Given the description of an element on the screen output the (x, y) to click on. 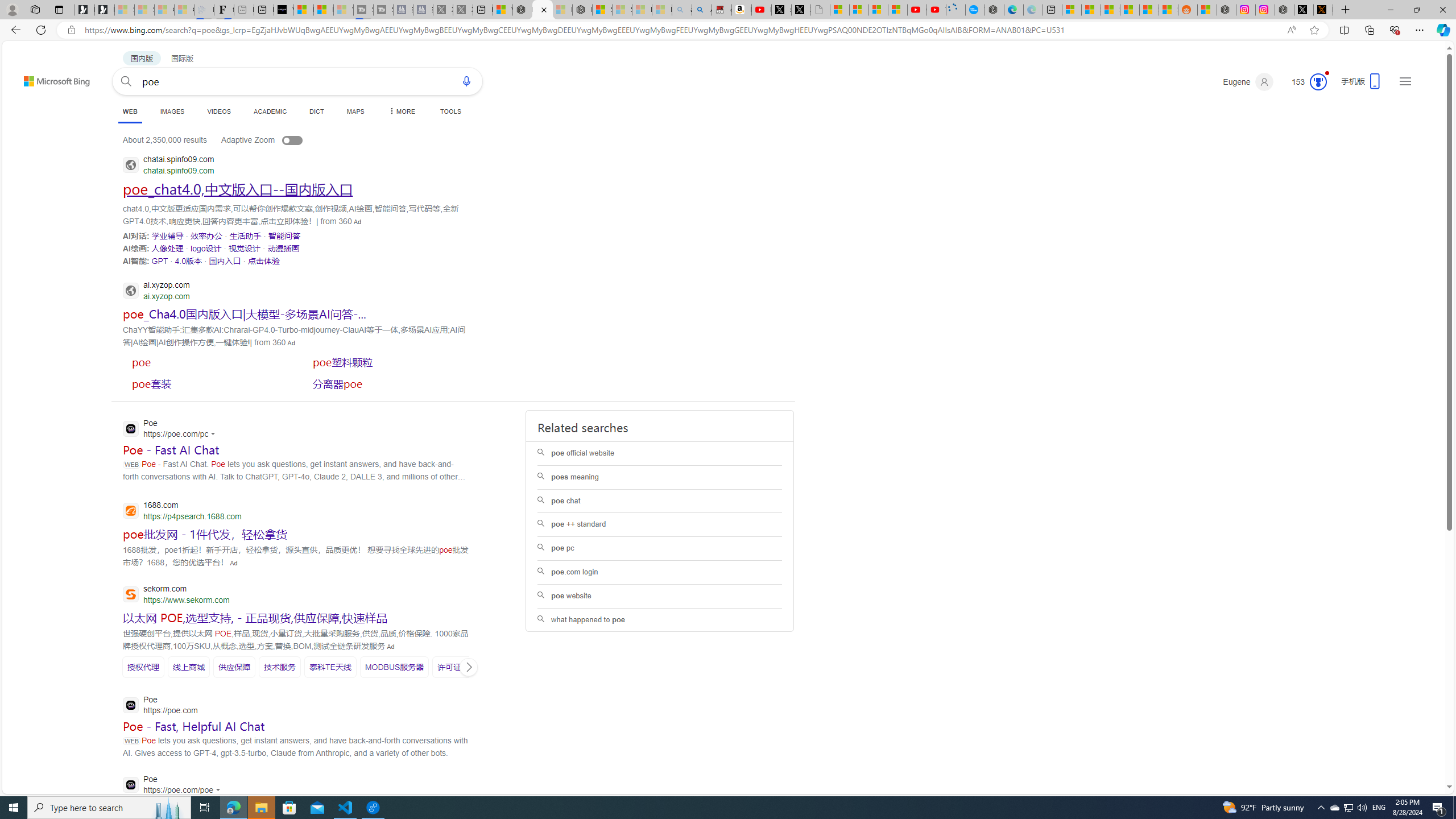
SERP,5599 (330, 666)
poe pc (659, 548)
Collections (1369, 29)
SERP,5560 (237, 189)
MORE (400, 111)
